Given the description of an element on the screen output the (x, y) to click on. 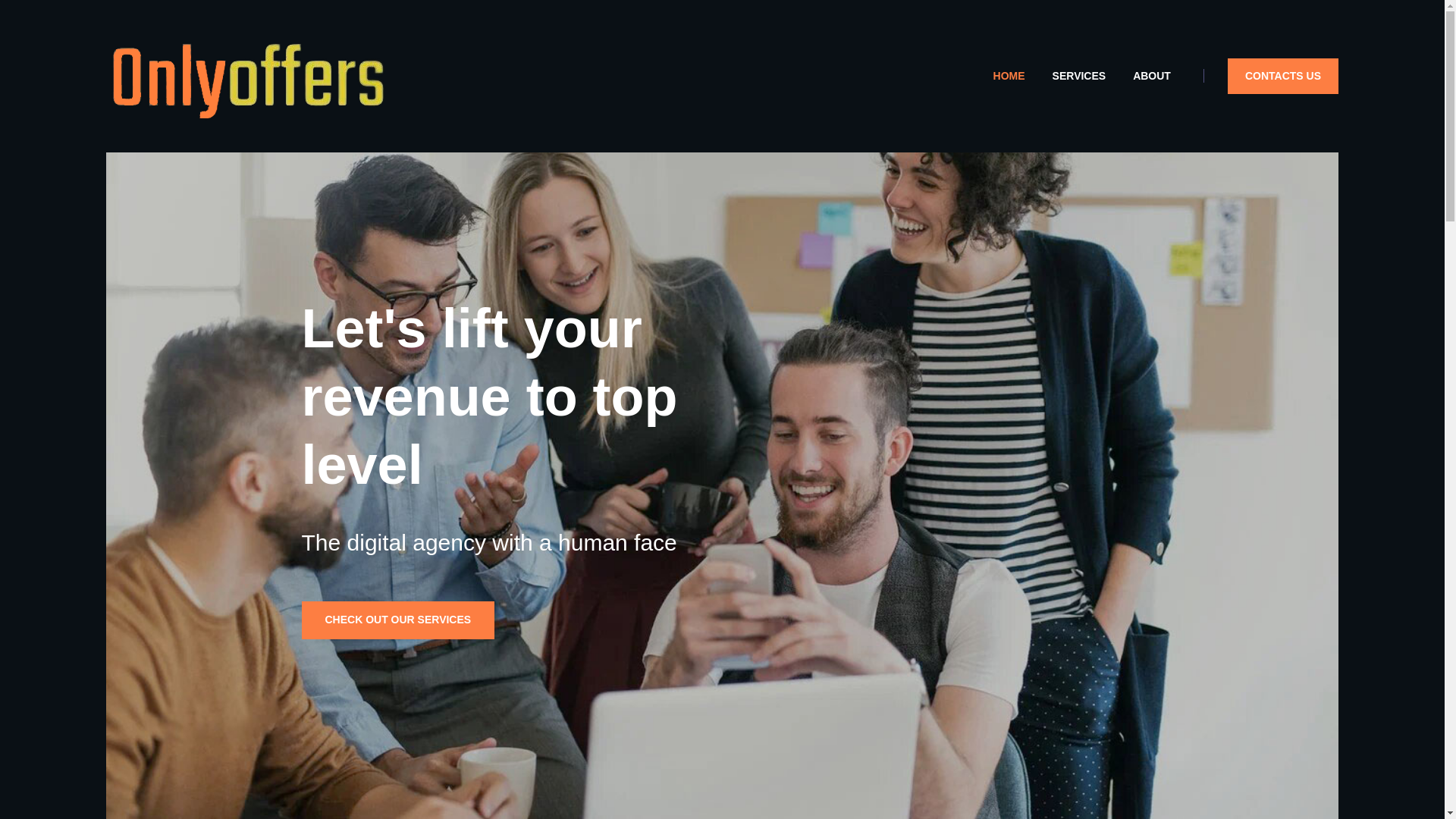
ABOUT (1152, 75)
HOME (1009, 75)
CONTACTS US (1282, 76)
SERVICES (1079, 75)
CHECK OUT OUR SERVICES (398, 619)
